Given the description of an element on the screen output the (x, y) to click on. 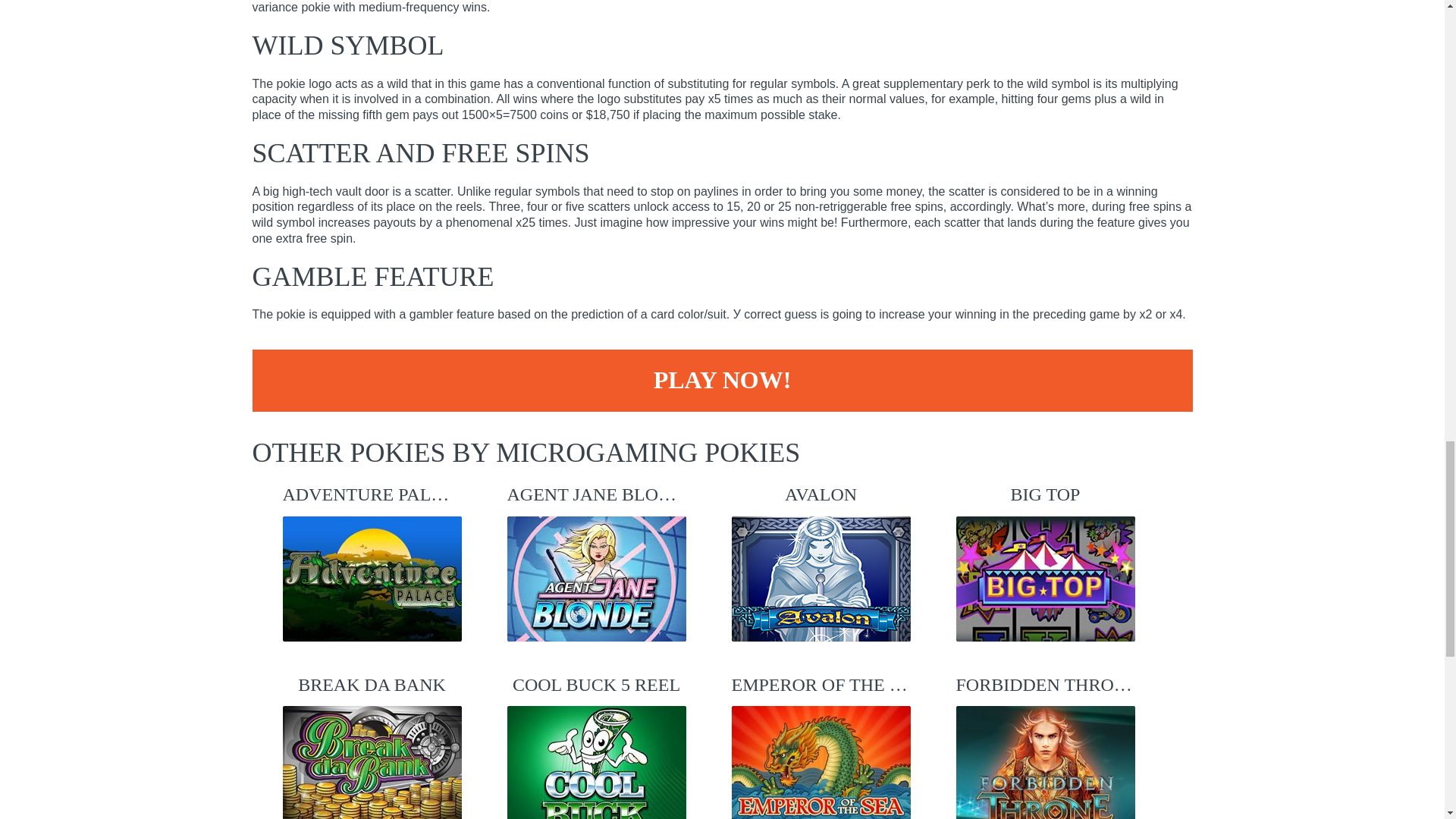
PLAY NOW! (721, 380)
AGENT JANE BLONDE (595, 561)
AVALON (820, 561)
BIG TOP (1044, 561)
ADVENTURE PALACE (371, 561)
